Given the description of an element on the screen output the (x, y) to click on. 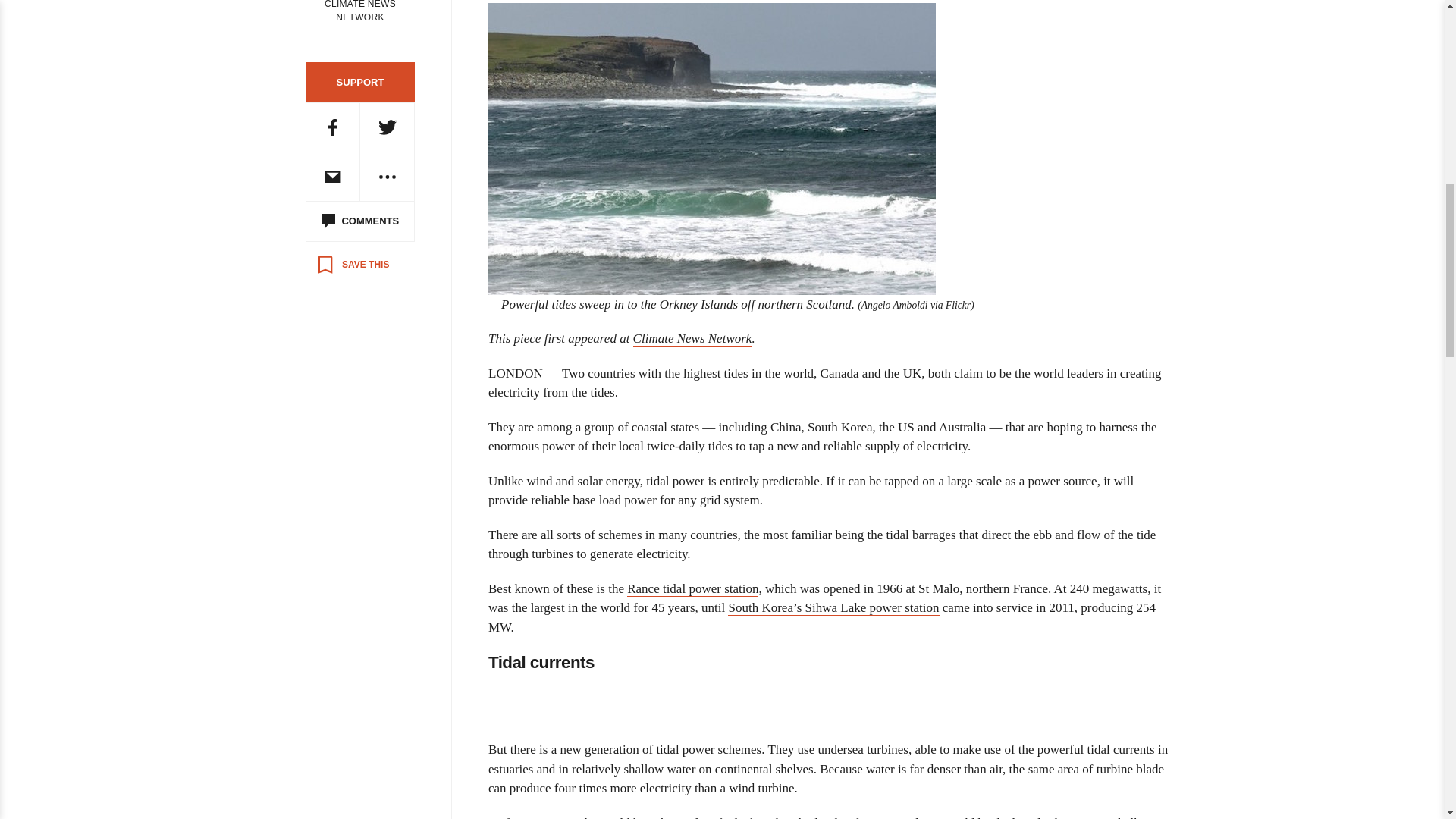
Save to read later (351, 264)
Climate News Network (692, 338)
